Given the description of an element on the screen output the (x, y) to click on. 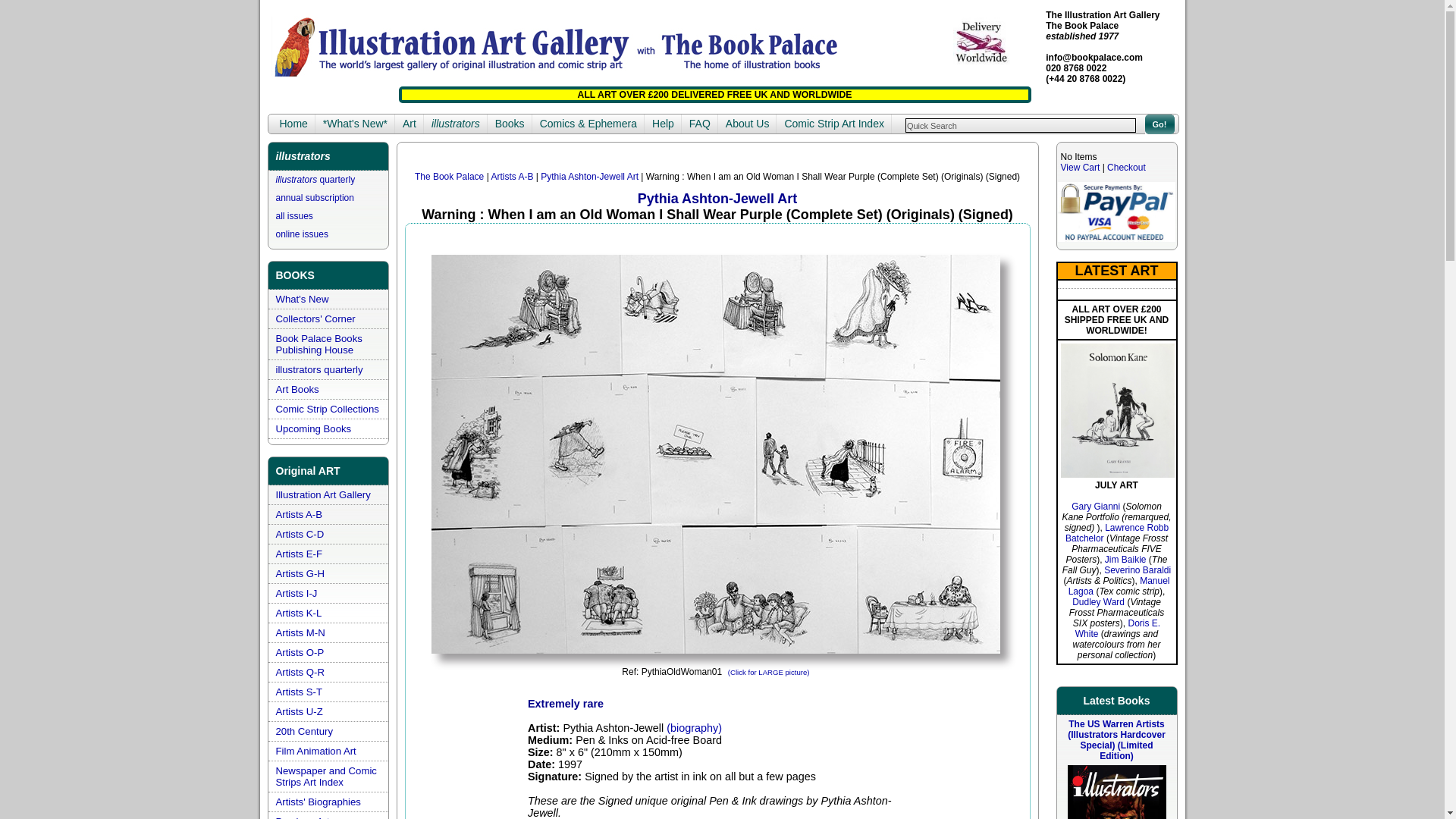
annual subscription (314, 197)
Art Books (297, 389)
Artists U-Z (299, 711)
new art, books, comics and ephemera in stock and latest news (354, 123)
Artists G-H (300, 573)
Illustration Art (408, 123)
illustrators quarterly (319, 369)
all issues (294, 215)
Artists C-D (300, 533)
Artists O-P (300, 652)
Art (408, 123)
illustrators (455, 123)
Our latest art, books and comics (302, 298)
online issues (302, 234)
we deliver everywhere! (980, 42)
